Given the description of an element on the screen output the (x, y) to click on. 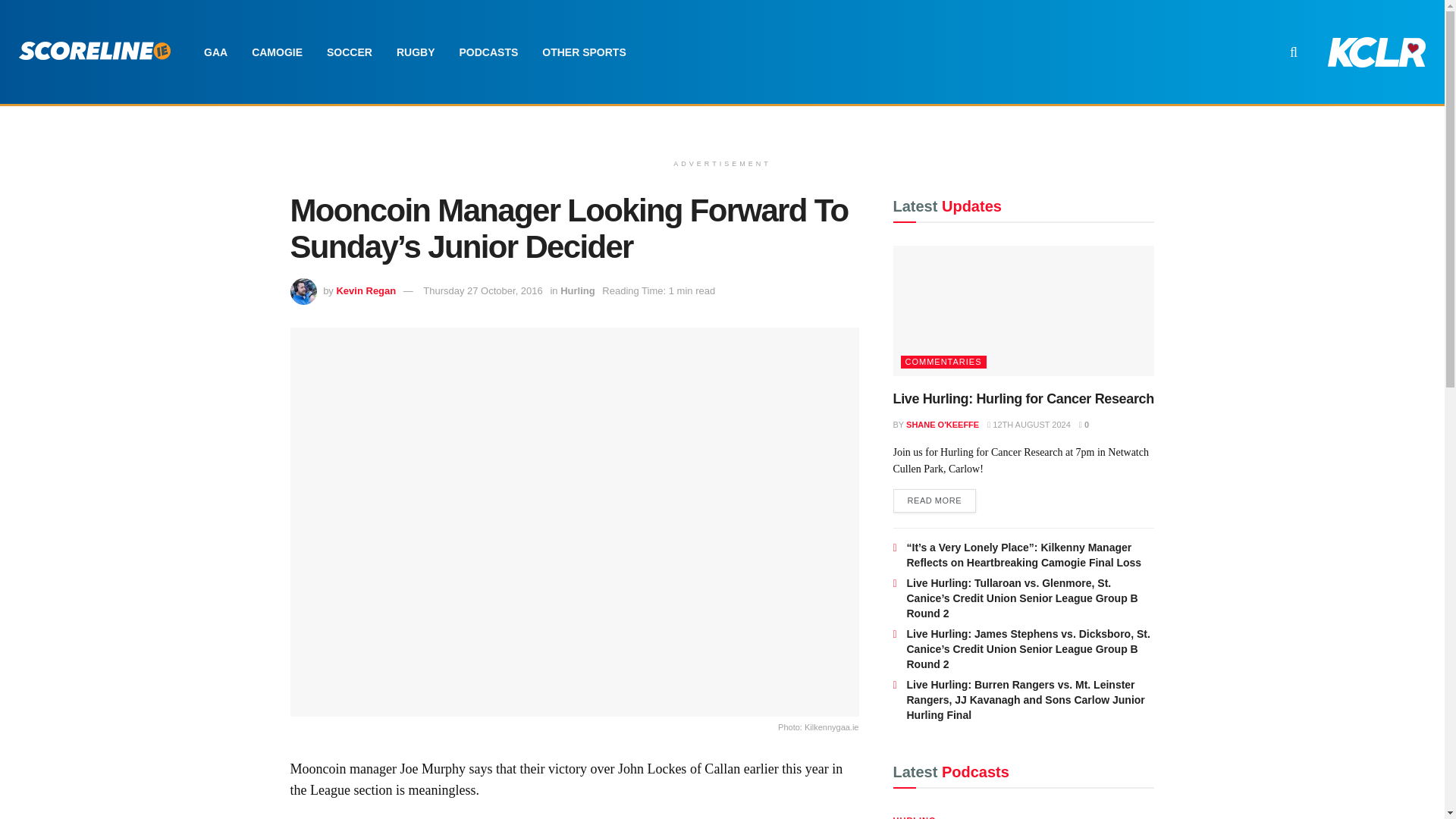
Live Hurling: Hurling for Cancer Research (1023, 398)
GAA (216, 52)
CAMOGIE (277, 52)
READ MORE (934, 500)
SHANE O'KEEFFE (941, 424)
0 (1083, 424)
SOCCER (349, 52)
Kevin Regan (366, 290)
COMMENTARIES (944, 361)
PODCASTS (487, 52)
